Given the description of an element on the screen output the (x, y) to click on. 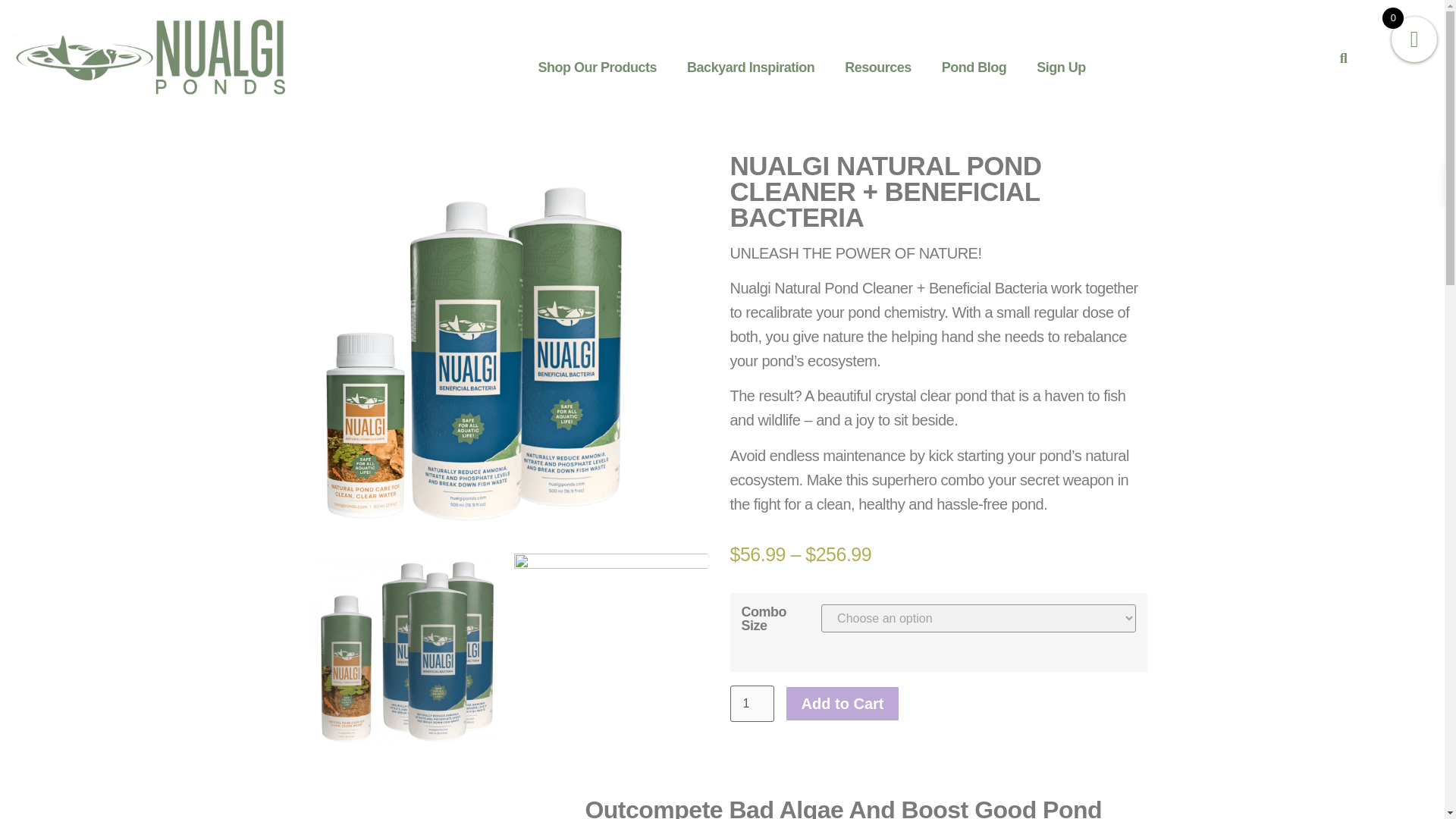
Pond Blog (974, 67)
Resources (877, 67)
Backyard Inspiration (750, 67)
1 (751, 703)
Sign Up (1061, 67)
Shop Our Products (597, 67)
